Given the description of an element on the screen output the (x, y) to click on. 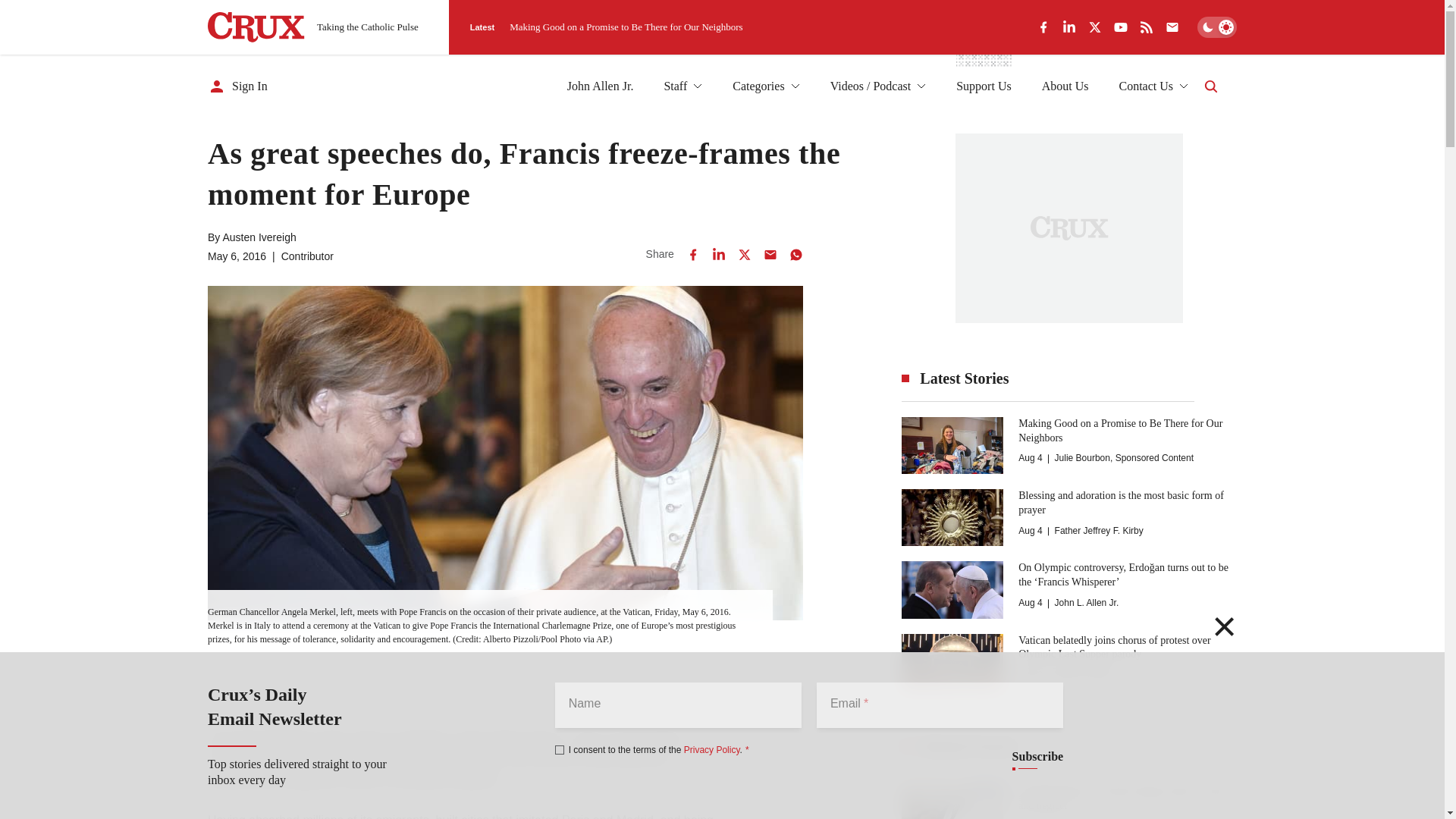
true (559, 749)
Support Us (983, 85)
Categories (765, 85)
Privacy Policy (711, 749)
Making Good on a Promise to Be There for Our Neighbors (625, 27)
Sign In (237, 85)
Staff (682, 85)
Subscribe (1037, 756)
John Allen Jr. (600, 85)
